Given the description of an element on the screen output the (x, y) to click on. 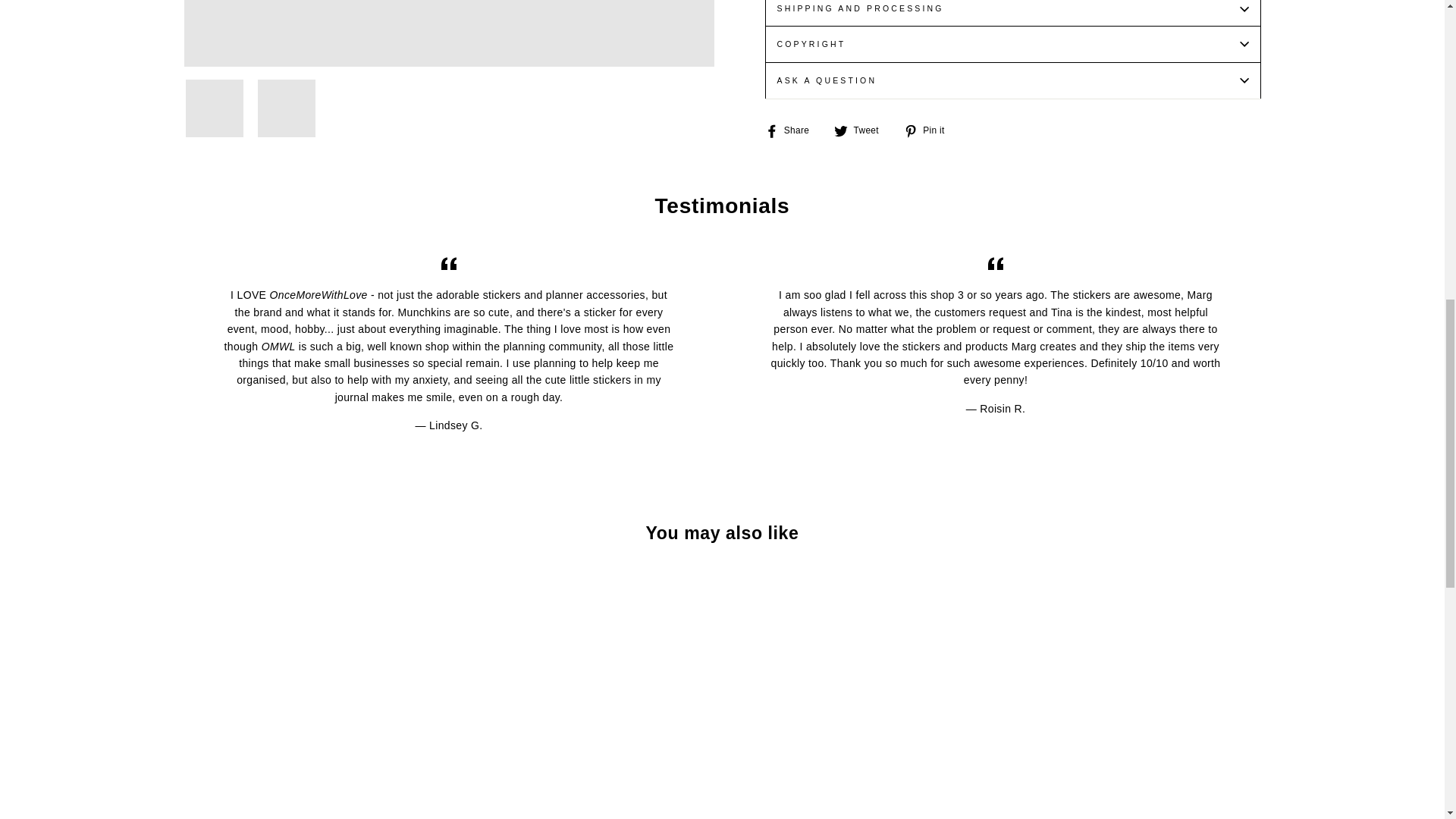
Tweet on Twitter (861, 130)
Pin on Pinterest (930, 130)
Share on Facebook (792, 130)
